Given the description of an element on the screen output the (x, y) to click on. 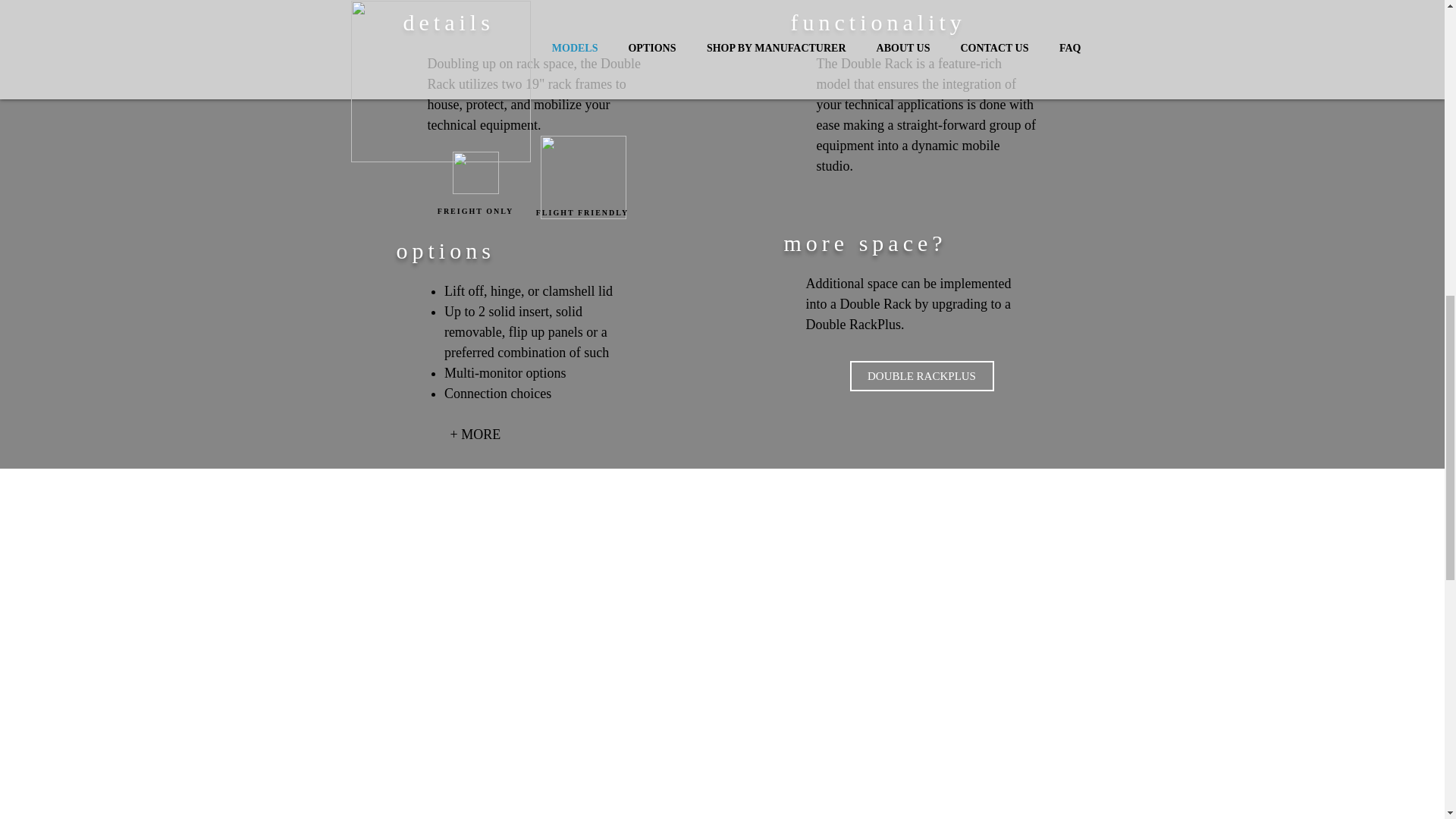
DOUBLE RACKPLUS (920, 376)
